Given the description of an element on the screen output the (x, y) to click on. 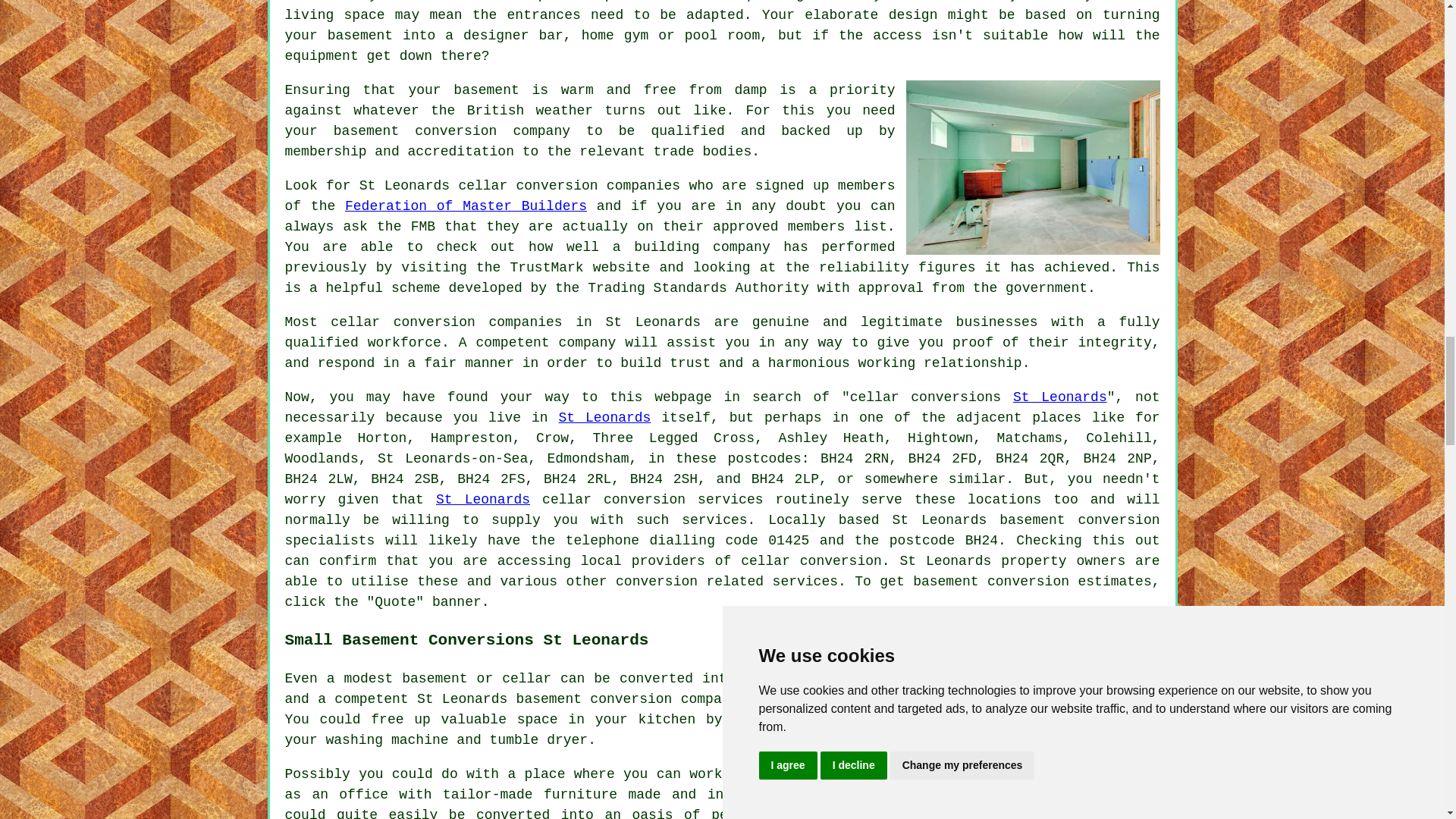
conversion (1027, 581)
conversion specialists (722, 529)
cellar conversion (811, 560)
